Given the description of an element on the screen output the (x, y) to click on. 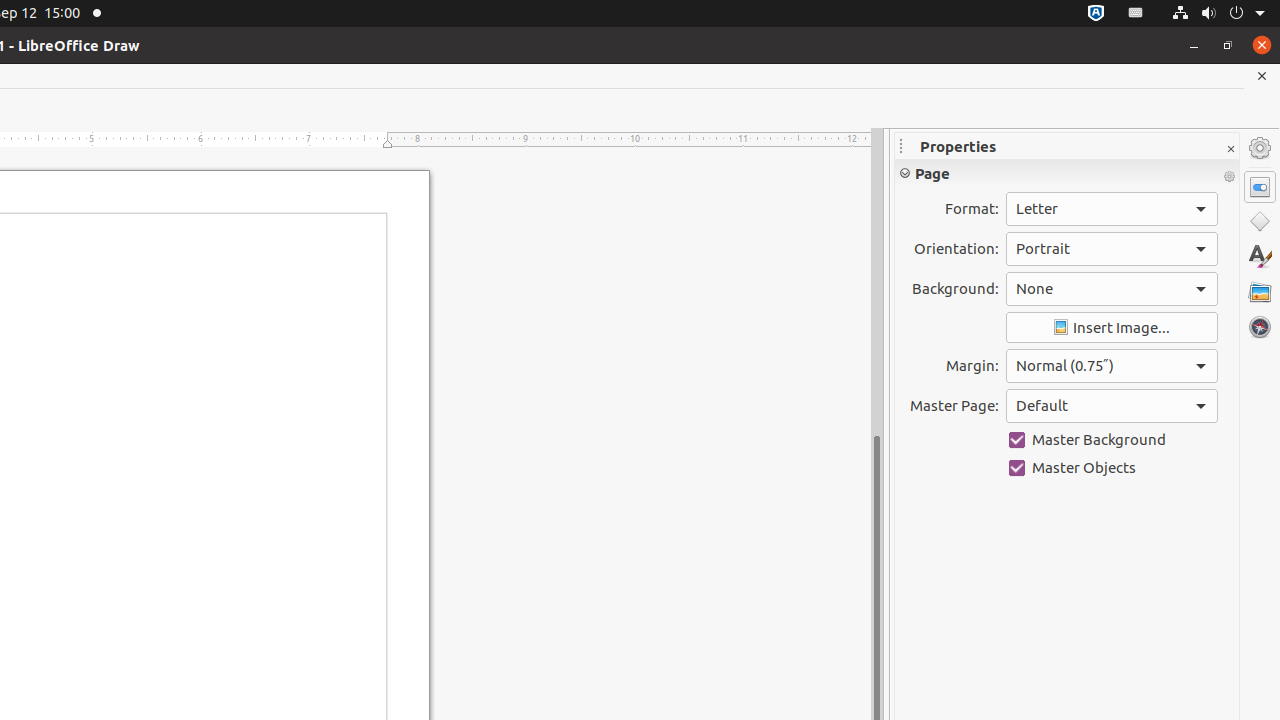
Master Background Element type: check-box (1112, 440)
Shapes Element type: radio-button (1260, 222)
Master Objects Element type: check-box (1112, 468)
Properties Element type: radio-button (1260, 187)
Styles Element type: radio-button (1260, 256)
